Given the description of an element on the screen output the (x, y) to click on. 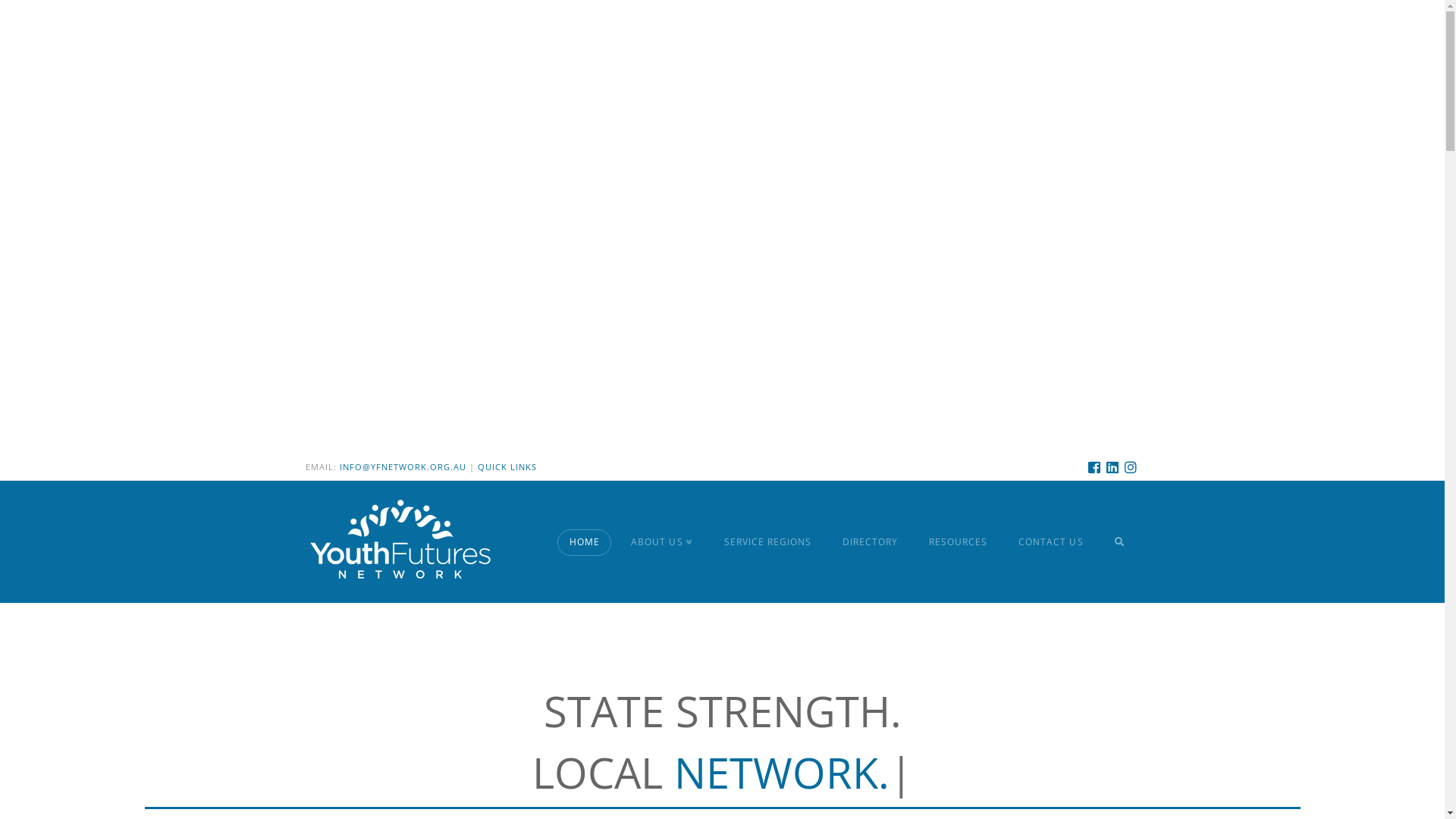
HOME Element type: text (584, 541)
RESOURCES Element type: text (957, 541)
LinkedIn Element type: hover (1111, 467)
SERVICE REGIONS Element type: text (767, 541)
Instagram Element type: hover (1129, 467)
DIRECTORY Element type: text (869, 541)
CONTACT US Element type: text (1050, 541)
INFO@YFNETWORK.ORG.AU Element type: text (402, 466)
Facebook Element type: hover (1093, 467)
QUICK LINKS Element type: text (506, 466)
ABOUT US Element type: text (661, 541)
